Given the description of an element on the screen output the (x, y) to click on. 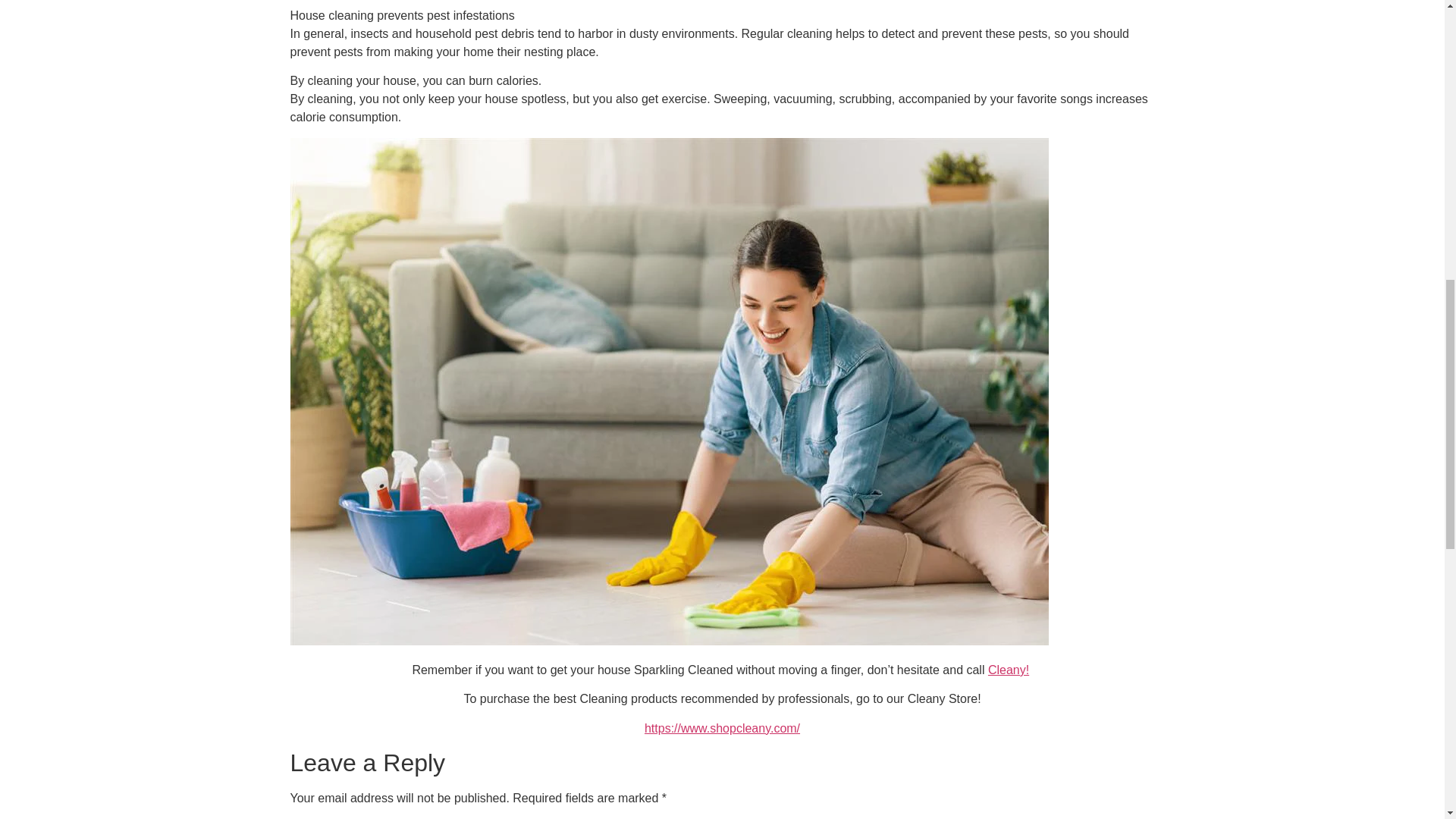
Cleany! (1008, 669)
